Given the description of an element on the screen output the (x, y) to click on. 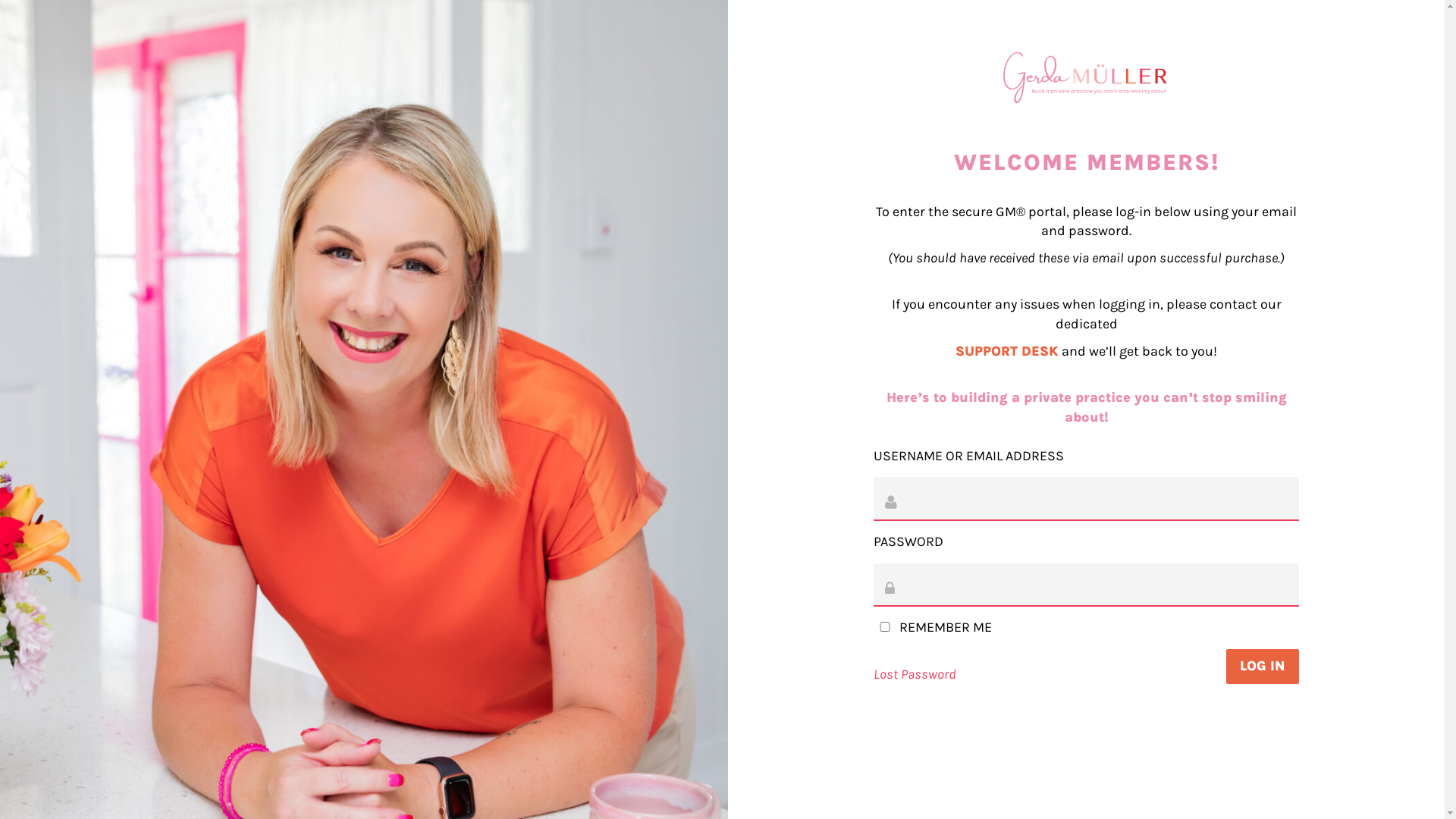
Log In Element type: text (1262, 666)
Lost Password Element type: text (914, 673)
SUPPORT DESK Element type: text (1006, 350)
